Given the description of an element on the screen output the (x, y) to click on. 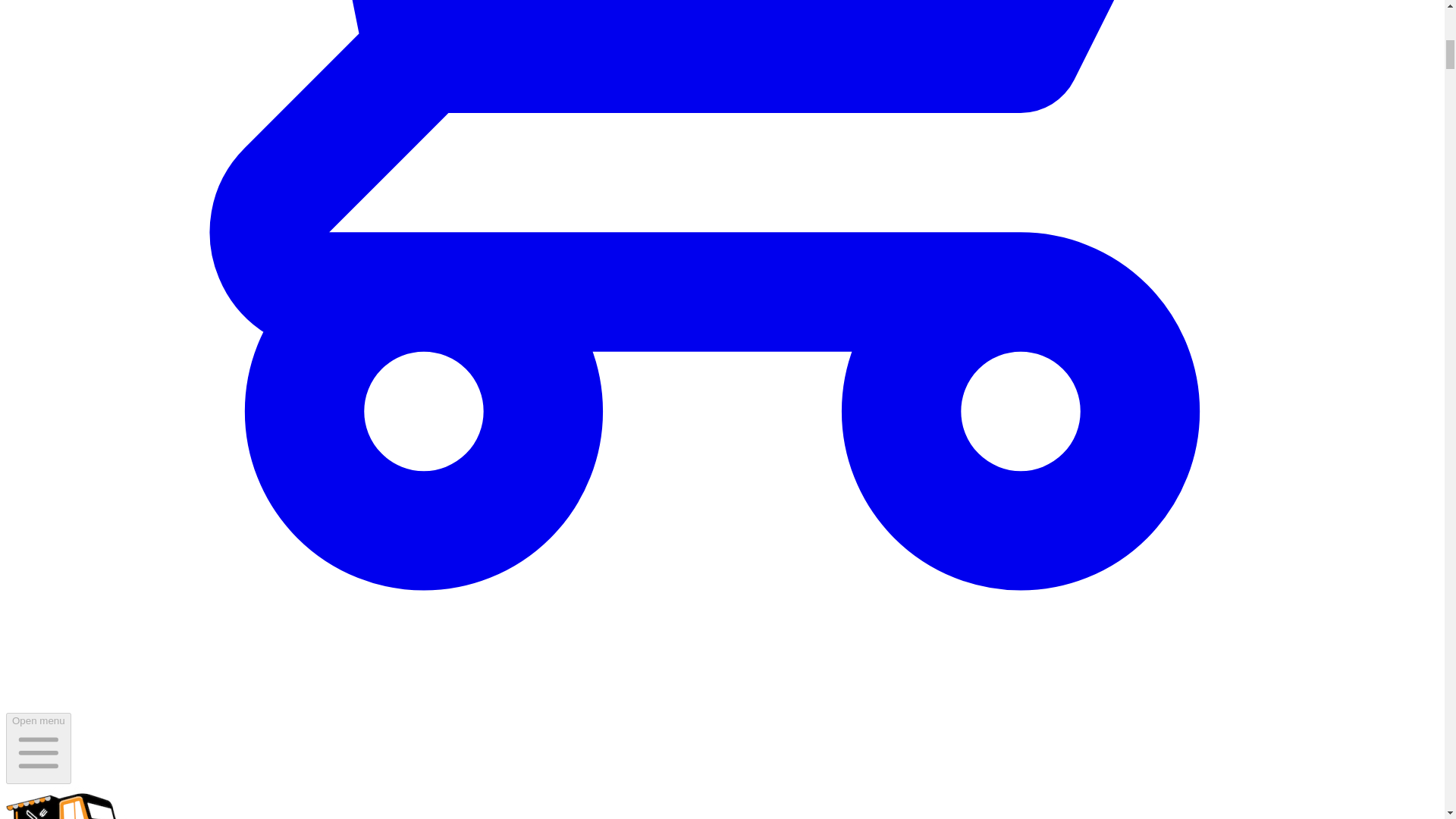
Open menu (38, 747)
